Given the description of an element on the screen output the (x, y) to click on. 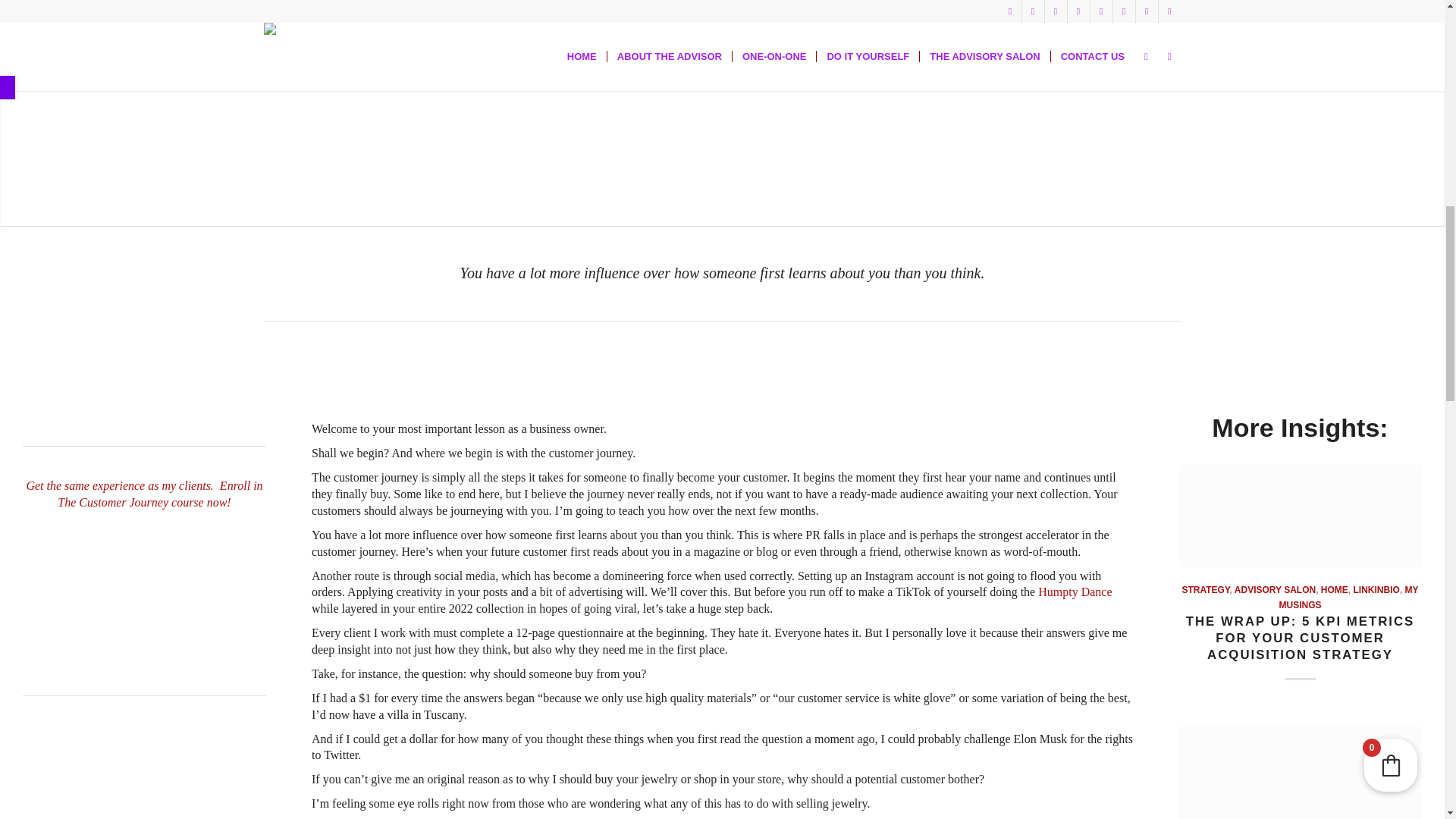
The Customer Journey (144, 587)
Humpty Dance (1075, 591)
